Given the description of an element on the screen output the (x, y) to click on. 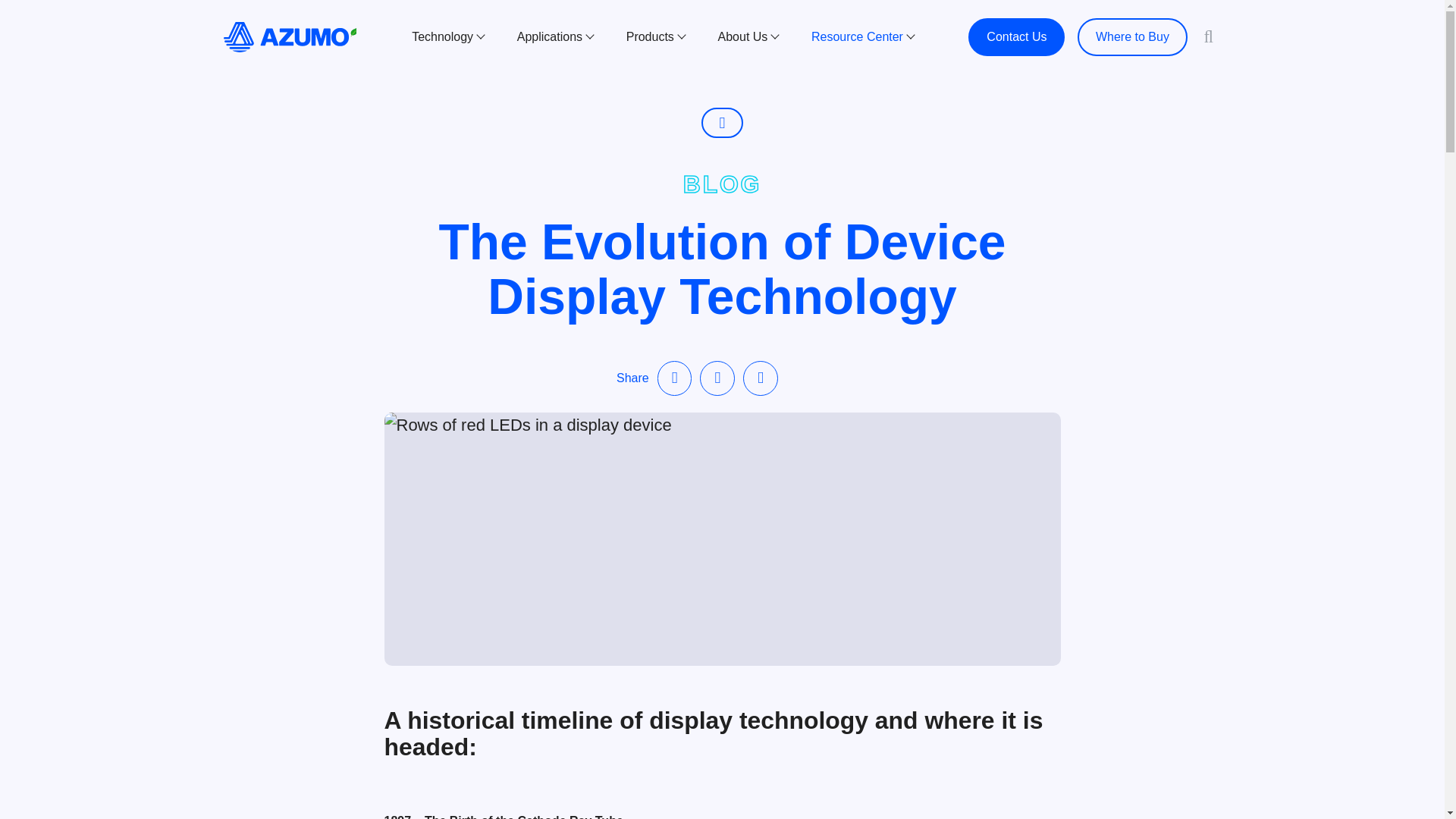
Azumo (289, 36)
Applications (555, 36)
Resource Center (862, 36)
About Us (747, 36)
Products (655, 36)
Technology (447, 36)
Contact Us (1015, 36)
Where to Buy (1132, 36)
